Given the description of an element on the screen output the (x, y) to click on. 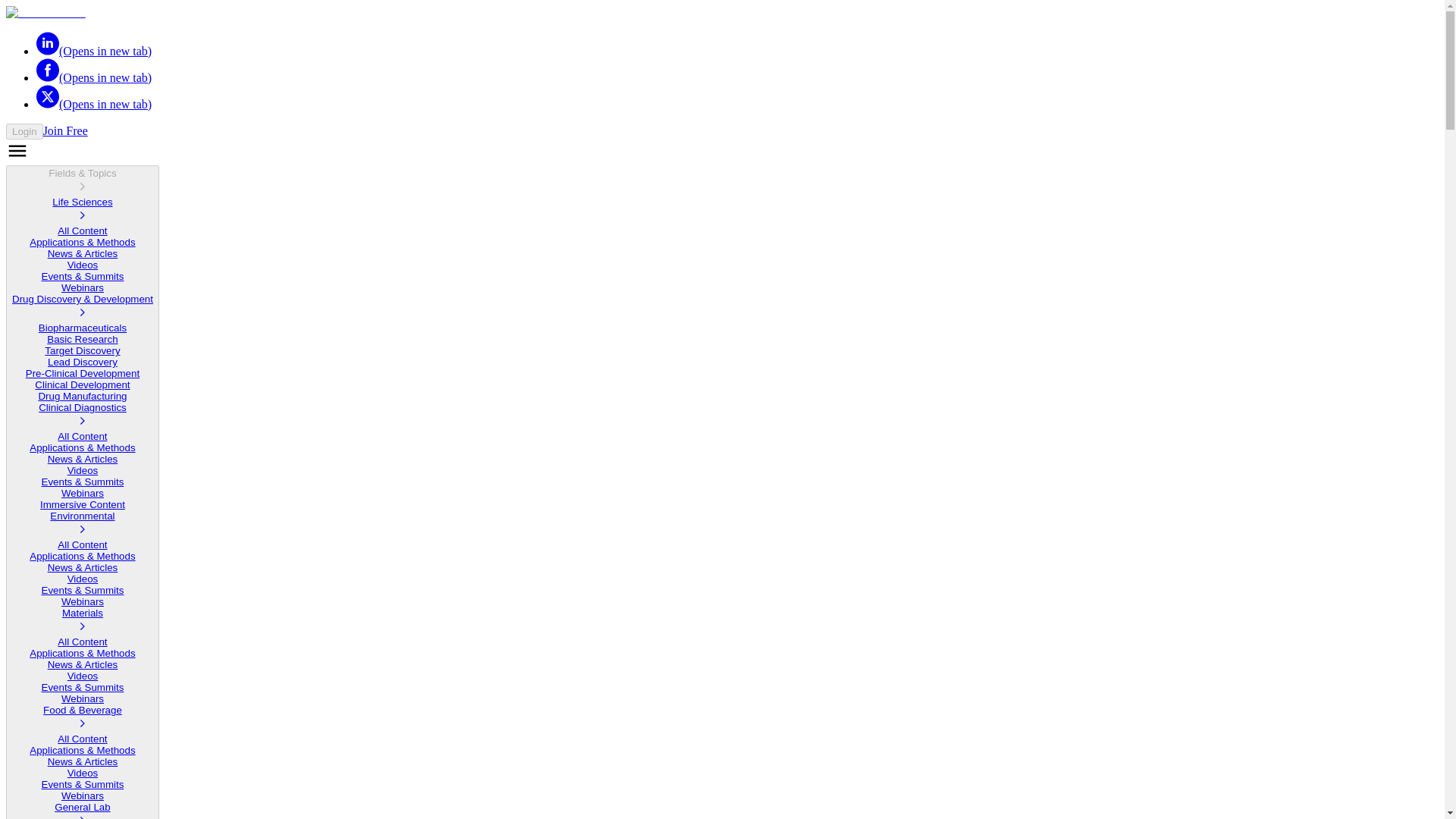
Clinical Development (81, 384)
Videos (82, 470)
Webinars (82, 287)
Life Sciences (81, 210)
All Content (82, 230)
Pre-Clinical Development (82, 373)
Lead Discovery (82, 361)
Drug Manufacturing (81, 396)
All Content (82, 436)
Biopharmaceuticals (82, 327)
All Content (82, 544)
Materials (81, 621)
Environmental (81, 524)
Webinars (82, 601)
Clinical Diagnostics (81, 416)
